Given the description of an element on the screen output the (x, y) to click on. 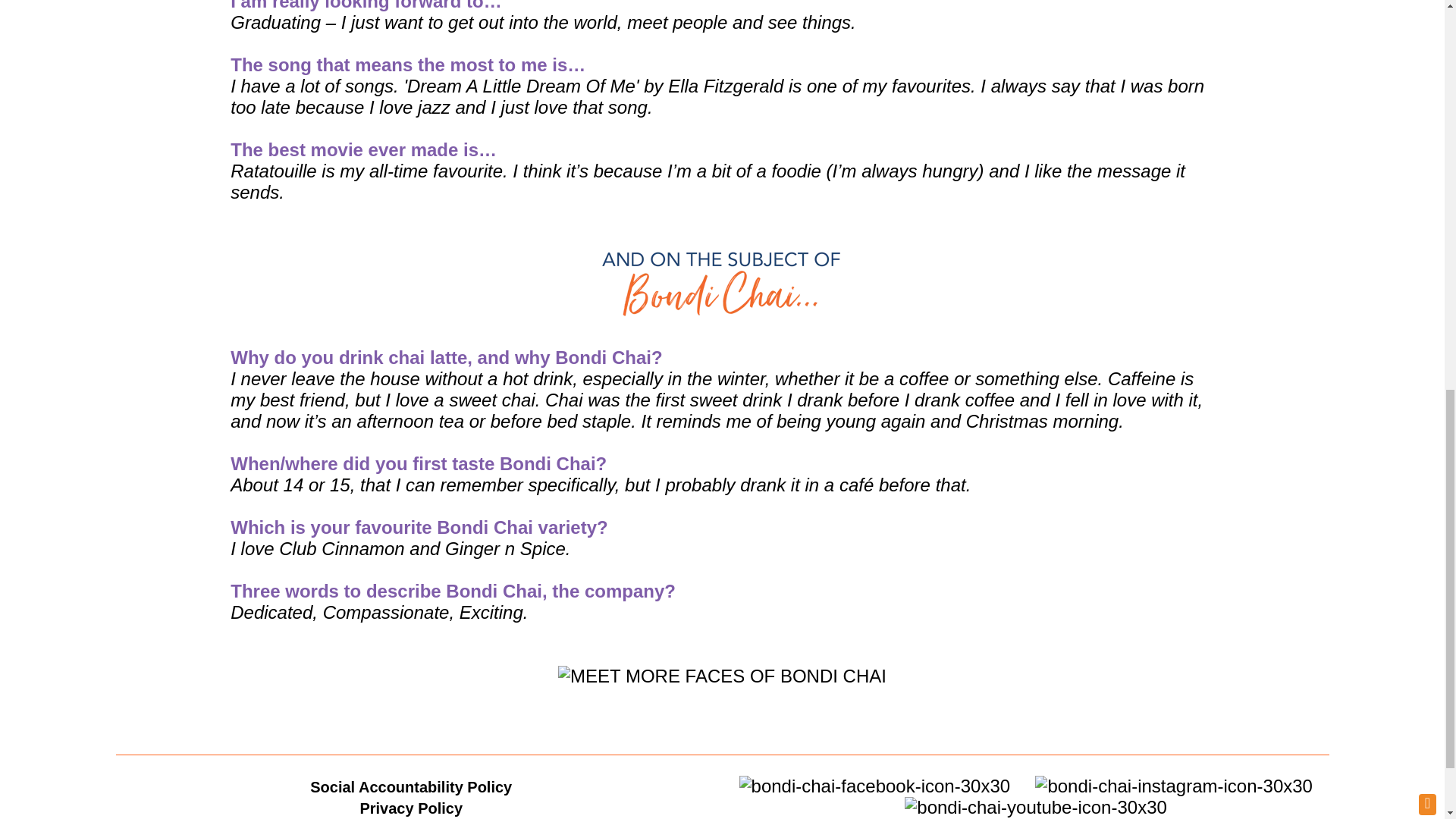
Privacy Policy (411, 808)
Social Accountability Policy (411, 786)
bondi-chai-faces-of-bondi-chai-on-the-subject-of-bondi-chai (721, 283)
